Given the description of an element on the screen output the (x, y) to click on. 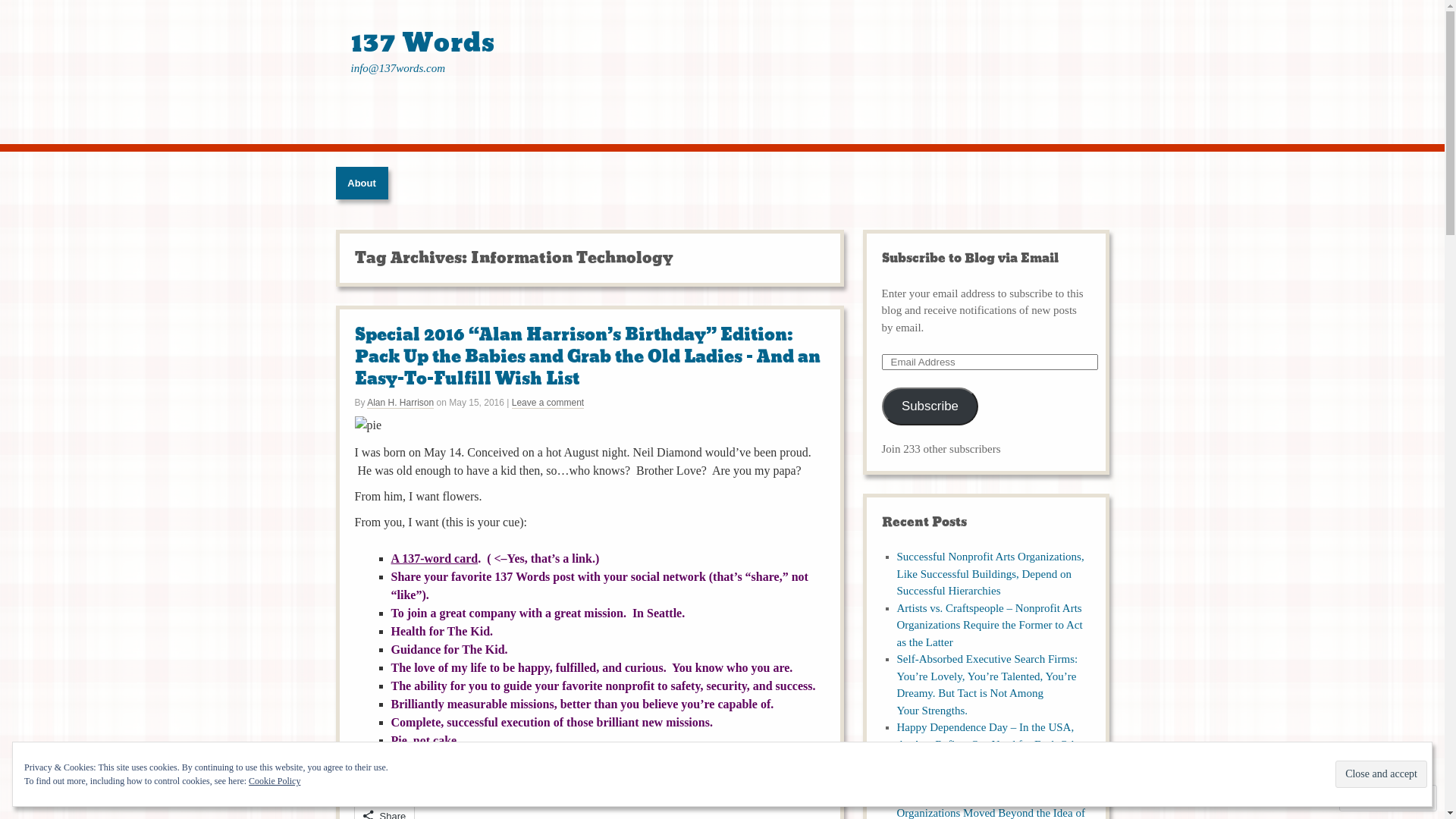
Close and accept Element type: text (1381, 773)
Follow Element type: text (1373, 797)
A 137-word card Element type: text (434, 558)
137 Words
info@137words.com Element type: text (721, 71)
Alan H. Harrison Element type: text (400, 402)
About Element type: text (361, 182)
Subscribe Element type: text (929, 406)
Leave a comment Element type: text (547, 402)
Cookie Policy Element type: text (274, 780)
